Given the description of an element on the screen output the (x, y) to click on. 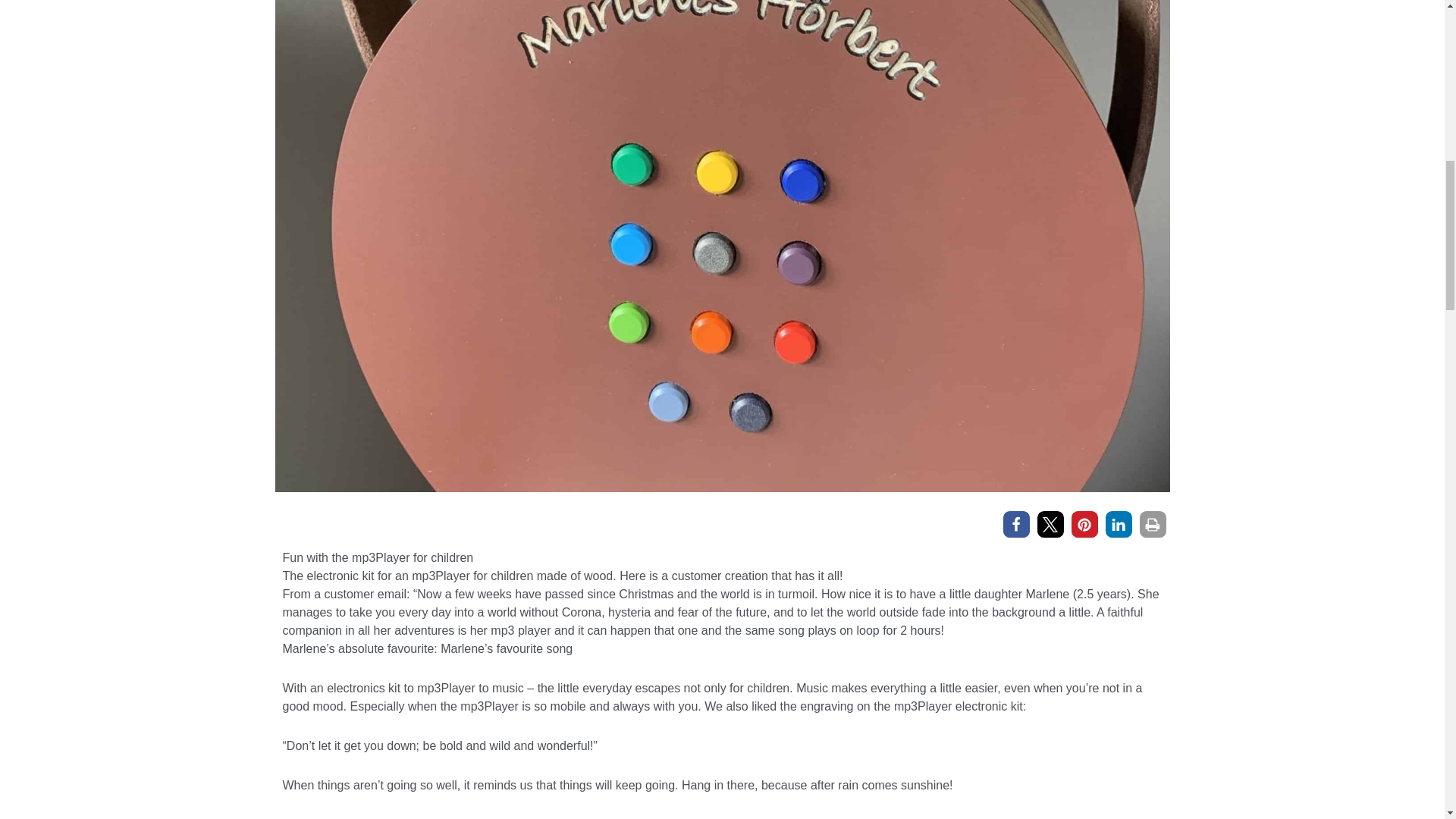
print (1152, 524)
Share on LinkedIn (1118, 524)
Share on Facebook (1016, 524)
Share on X (1050, 524)
Pin it on Pinterest (1083, 524)
